Given the description of an element on the screen output the (x, y) to click on. 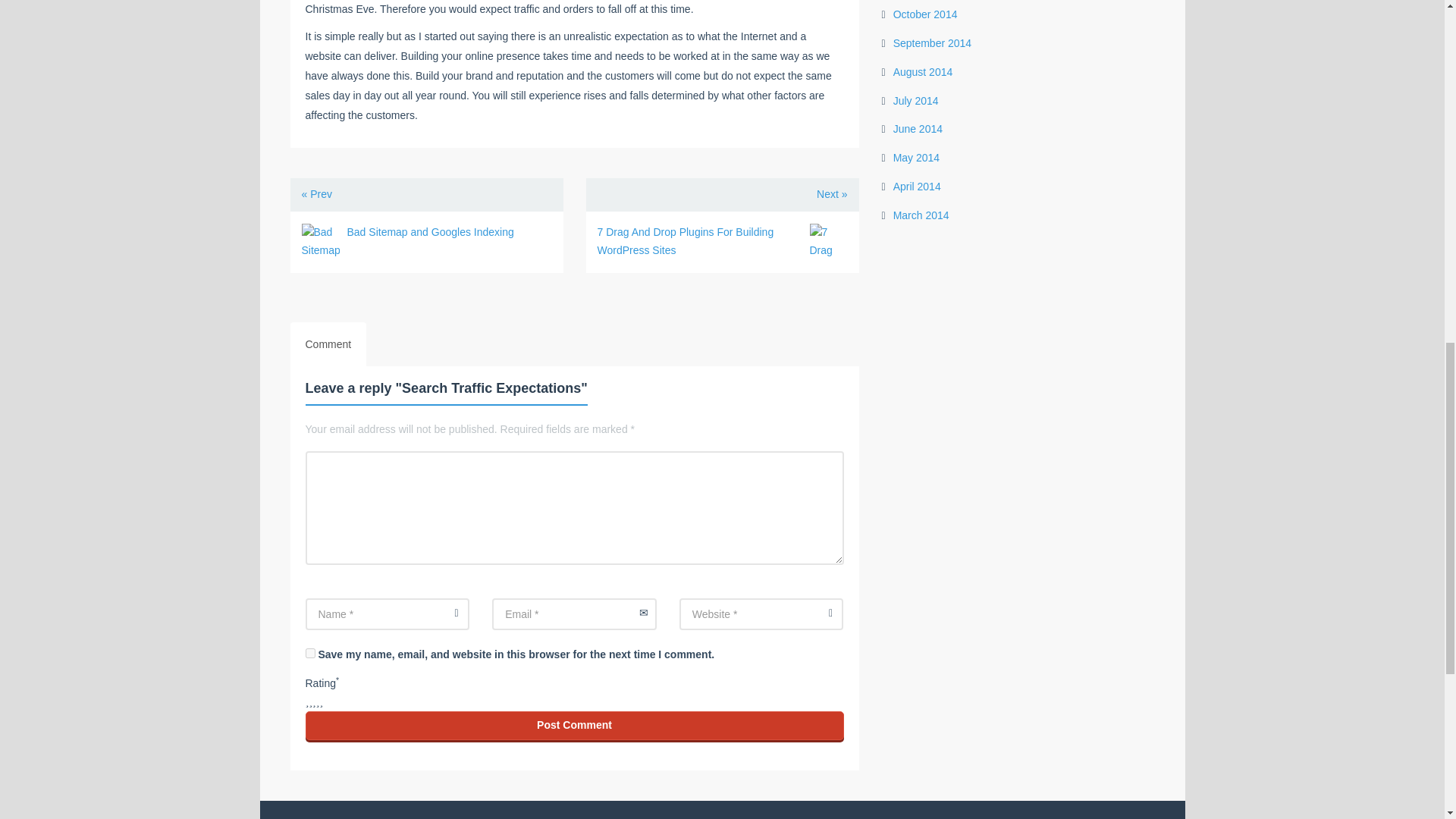
Post Comment (573, 725)
7 Drag And Drop Plugins For Building WordPress Sites (685, 241)
Comments (327, 344)
Comment (327, 344)
Permalink to Bad Sitemap and Googles Indexing (430, 232)
7 Drag And Drop Plugins For Building WordPress Sites (828, 242)
Bad Sitemap and Googles Indexing (320, 242)
Post Comment (573, 725)
Bad Sitemap and Googles Indexing (430, 232)
